Given the description of an element on the screen output the (x, y) to click on. 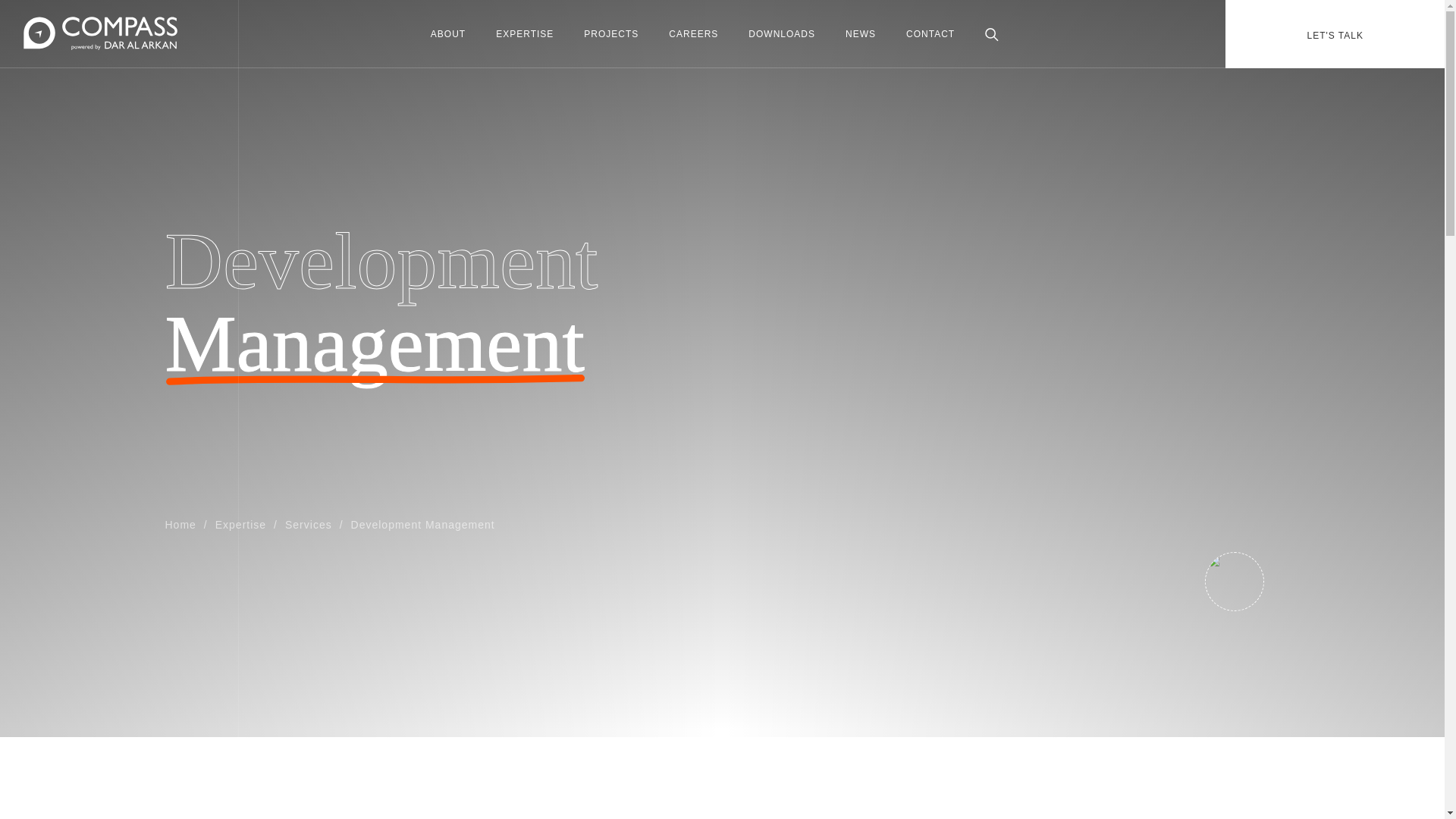
EXPERTISE (524, 34)
NEWS (860, 34)
CONTACT (930, 34)
DOWNLOADS (781, 34)
CAREERS (692, 34)
PROJECTS (611, 34)
ABOUT (447, 34)
